Given the description of an element on the screen output the (x, y) to click on. 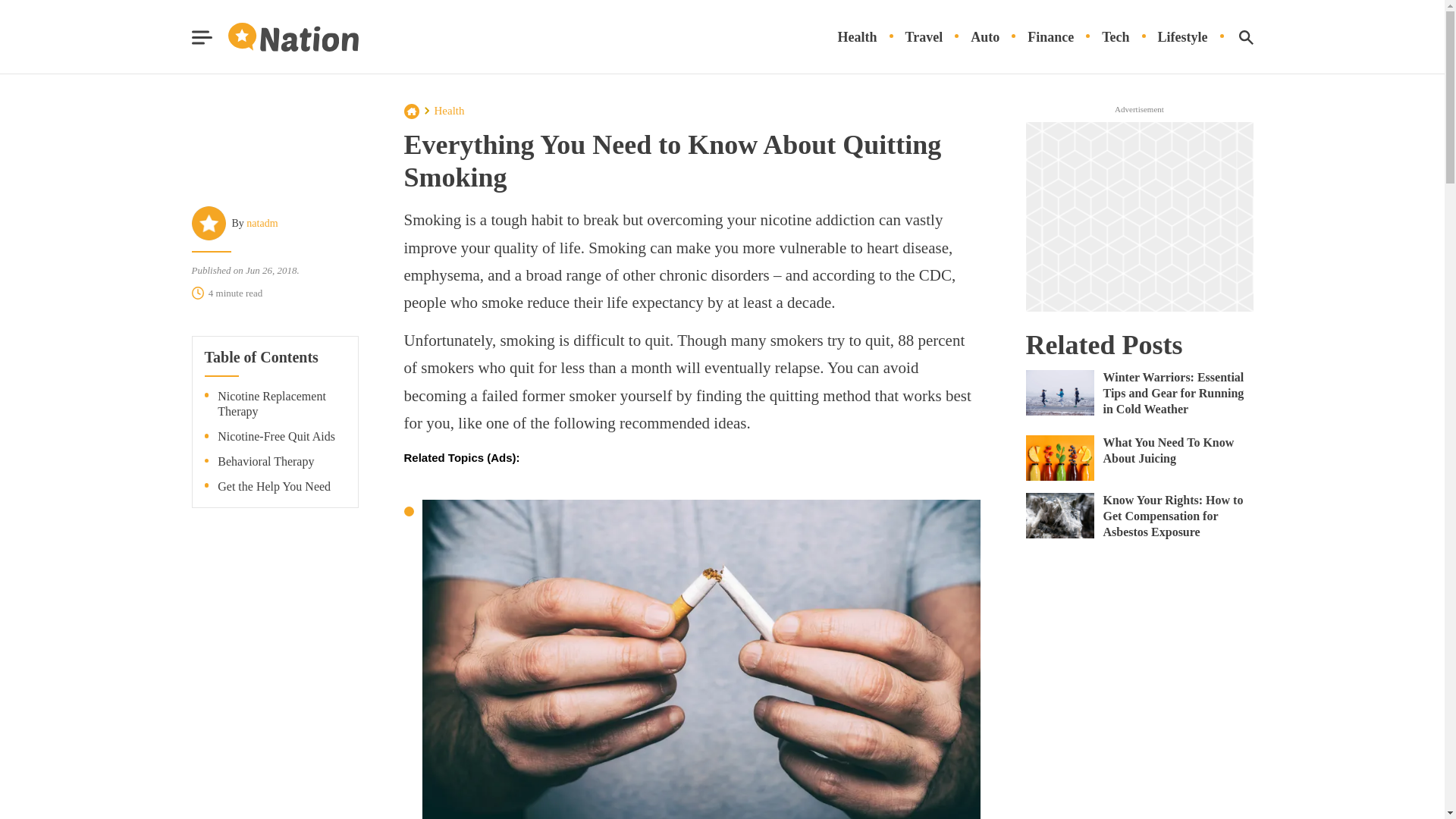
Health (856, 37)
Travel (924, 37)
Health (448, 110)
Lifestyle (1182, 37)
Nicotine-Free Quit Aids (275, 437)
Home (411, 111)
Nicotine Replacement Therapy (280, 404)
Finance (1050, 37)
